Given the description of an element on the screen output the (x, y) to click on. 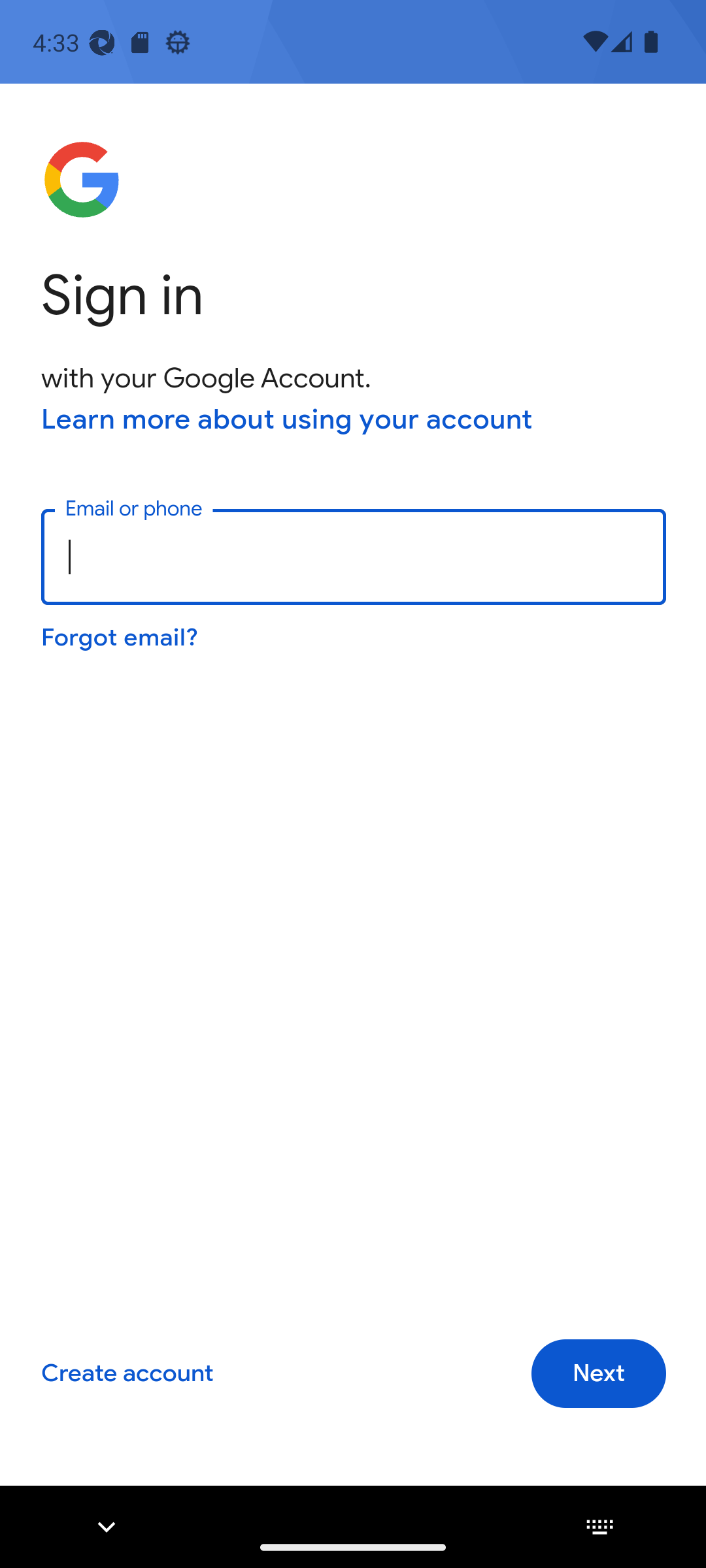
Learn more about using your account (286, 419)
Forgot email? (119, 635)
Create account (127, 1374)
Next (598, 1374)
